Given the description of an element on the screen output the (x, y) to click on. 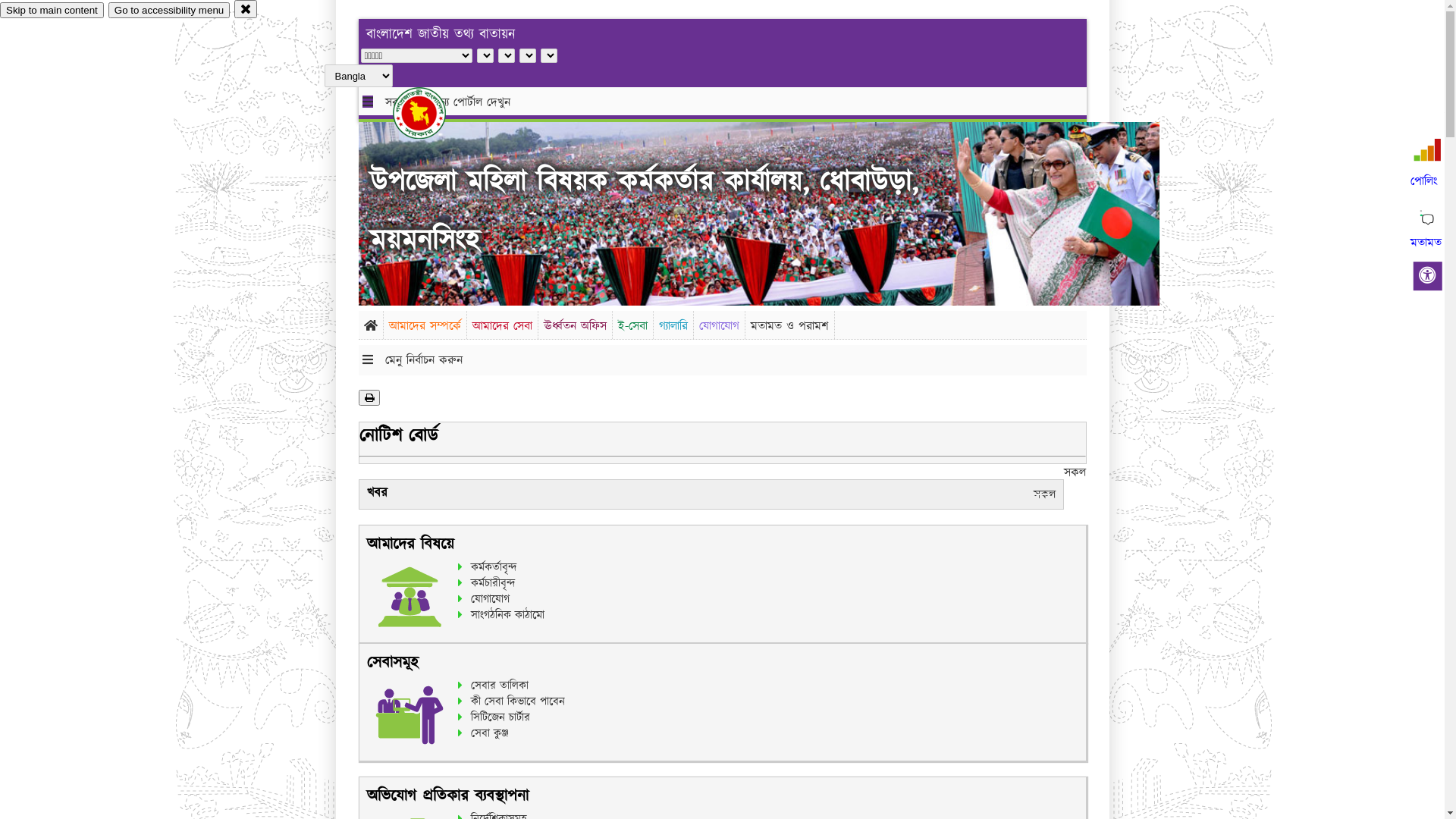
close Element type: hover (245, 9)
Go to accessibility menu Element type: text (168, 10)

                
             Element type: hover (431, 112)
Skip to main content Element type: text (51, 10)
